Given the description of an element on the screen output the (x, y) to click on. 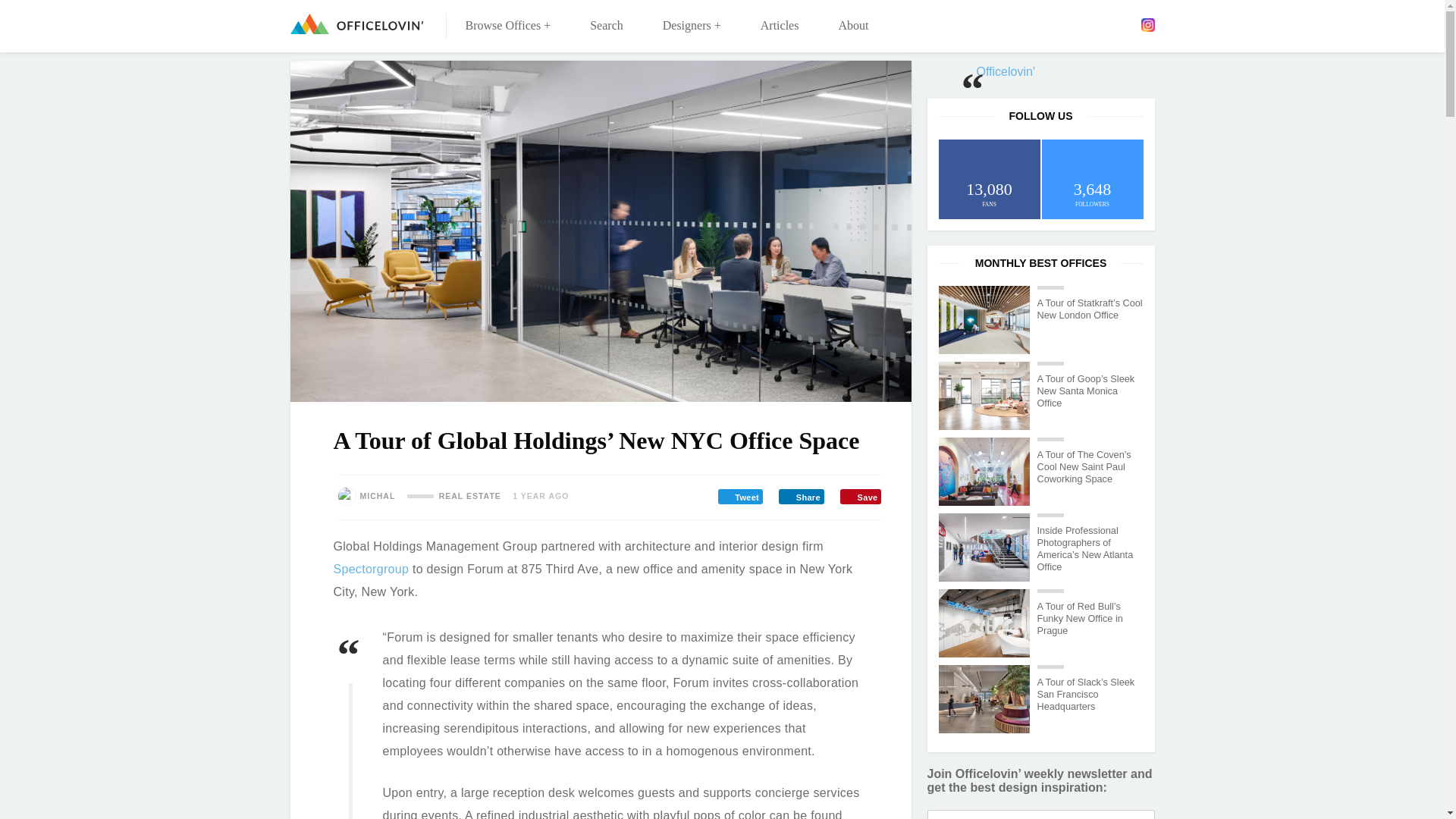
Officelovin on Pinterest (1125, 24)
Officelovin on Facebook (1058, 24)
Officelovin on LinkedIn (1102, 24)
Search (606, 25)
Share link on LinkedIn (801, 496)
Officelovin on Twitter (1082, 24)
Share link on Pinterest (860, 496)
Officelovin on Instagram (1147, 24)
Share link on Twitter (739, 496)
